Given the description of an element on the screen output the (x, y) to click on. 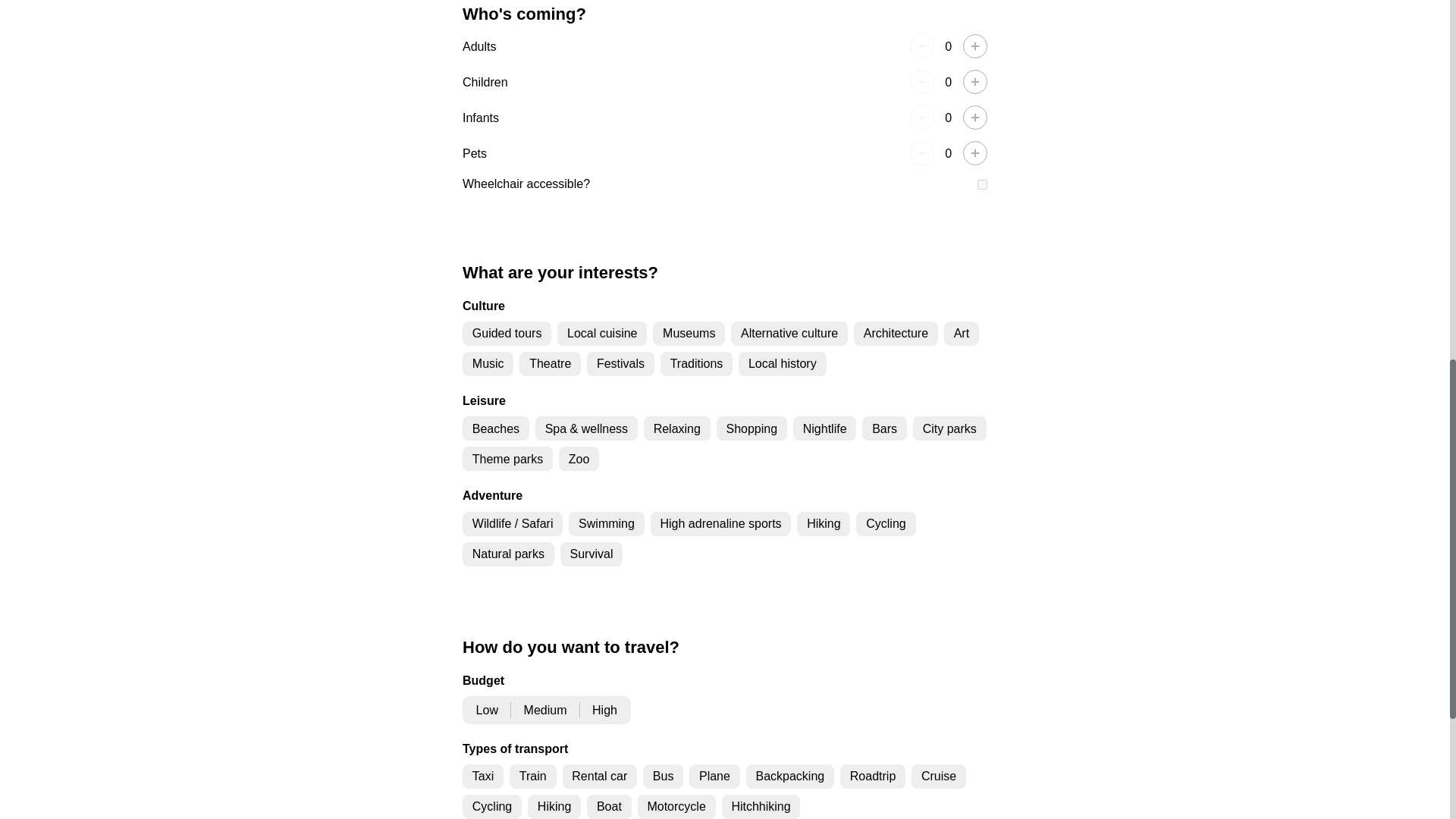
on (981, 184)
